Given the description of an element on the screen output the (x, y) to click on. 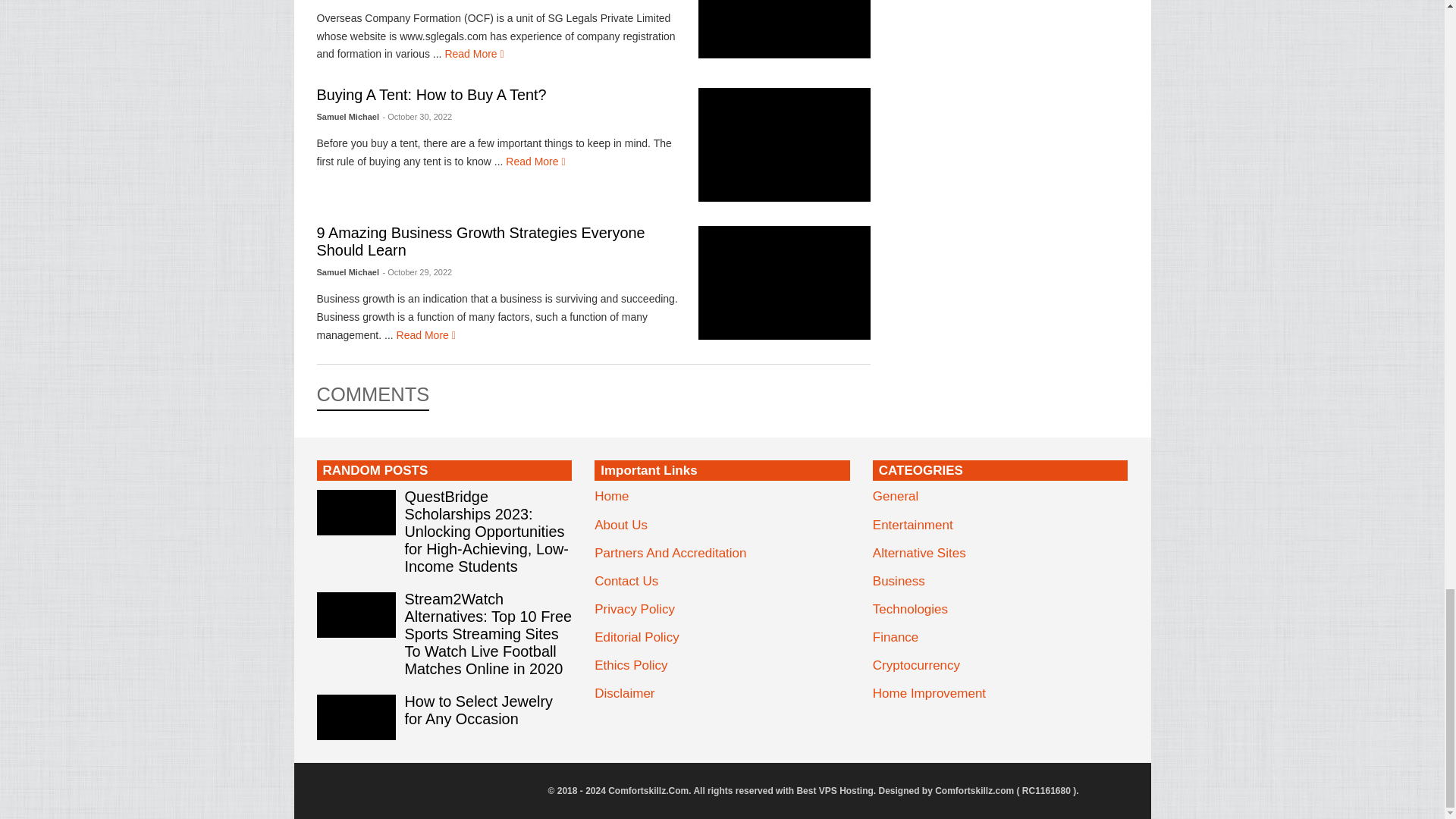
9 Amazing Business Growth Strategies Everyone Should Learn (783, 282)
Buying A Tent: How to Buy A Tent? (534, 161)
Buying A Tent: How to Buy A Tent? (783, 144)
Buying A Tent: How to Buy A Tent? (432, 94)
